Given the description of an element on the screen output the (x, y) to click on. 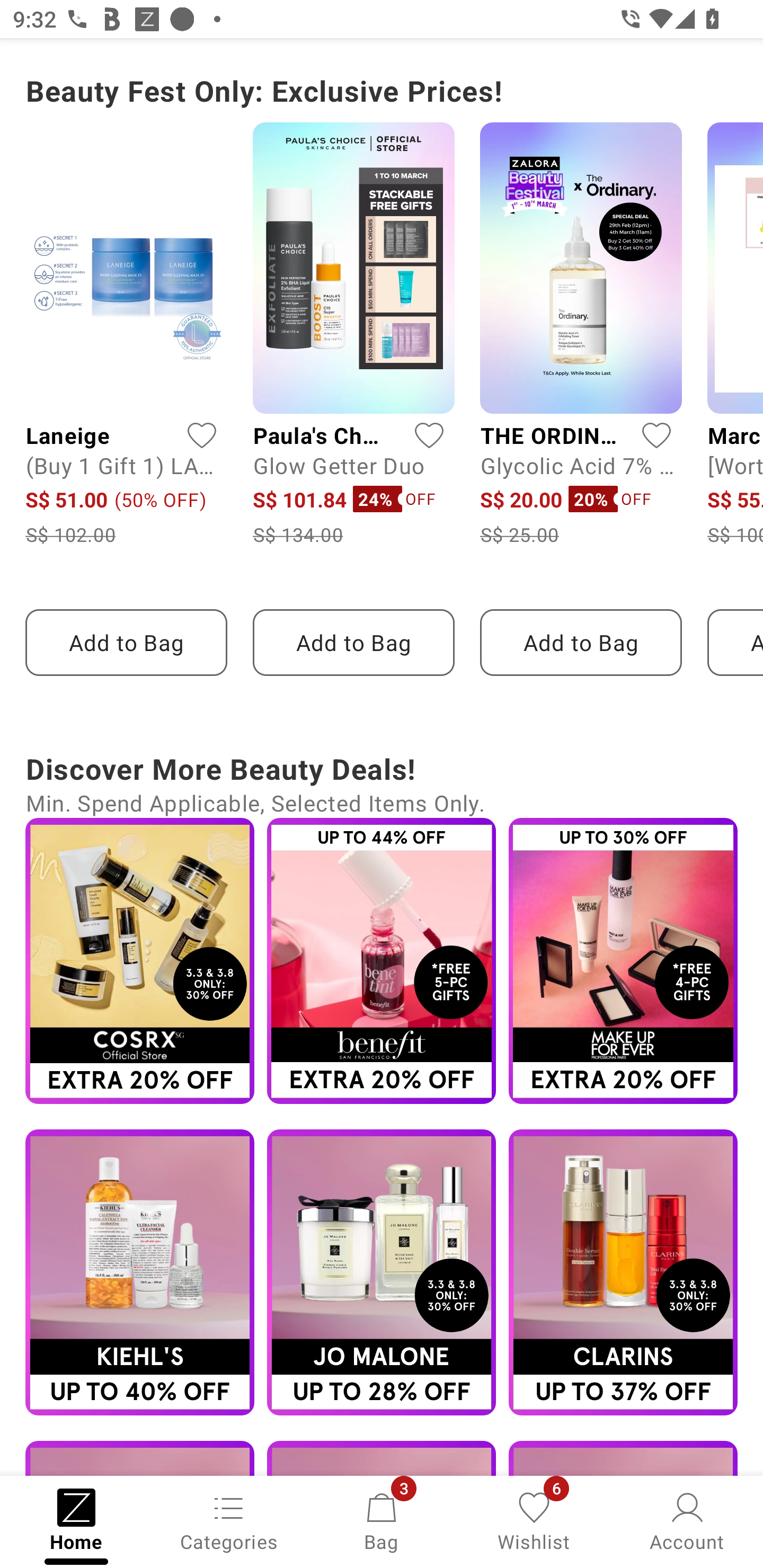
Add to Bag (126, 642)
Add to Bag (353, 642)
Add to Bag (580, 642)
Campaign banner (139, 960)
Campaign banner (381, 960)
Campaign banner (622, 960)
Campaign banner (139, 1271)
Campaign banner (381, 1271)
Campaign banner (622, 1271)
Categories (228, 1519)
Bag, 3 new notifications Bag (381, 1519)
Wishlist, 6 new notifications Wishlist (533, 1519)
Account (686, 1519)
